Given the description of an element on the screen output the (x, y) to click on. 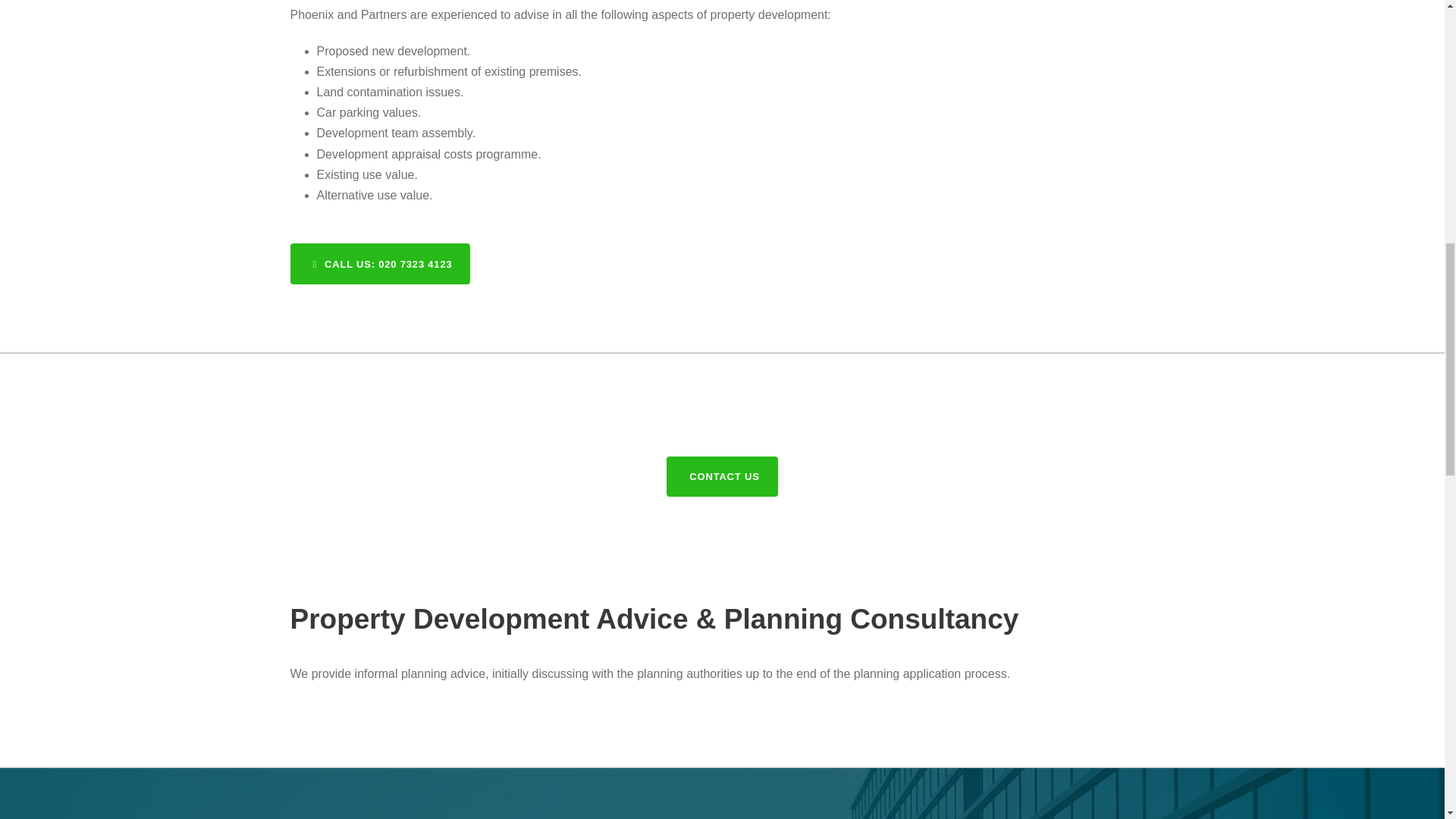
CALL US: 020 7323 4123 (379, 263)
CONTACT US (721, 476)
